Given the description of an element on the screen output the (x, y) to click on. 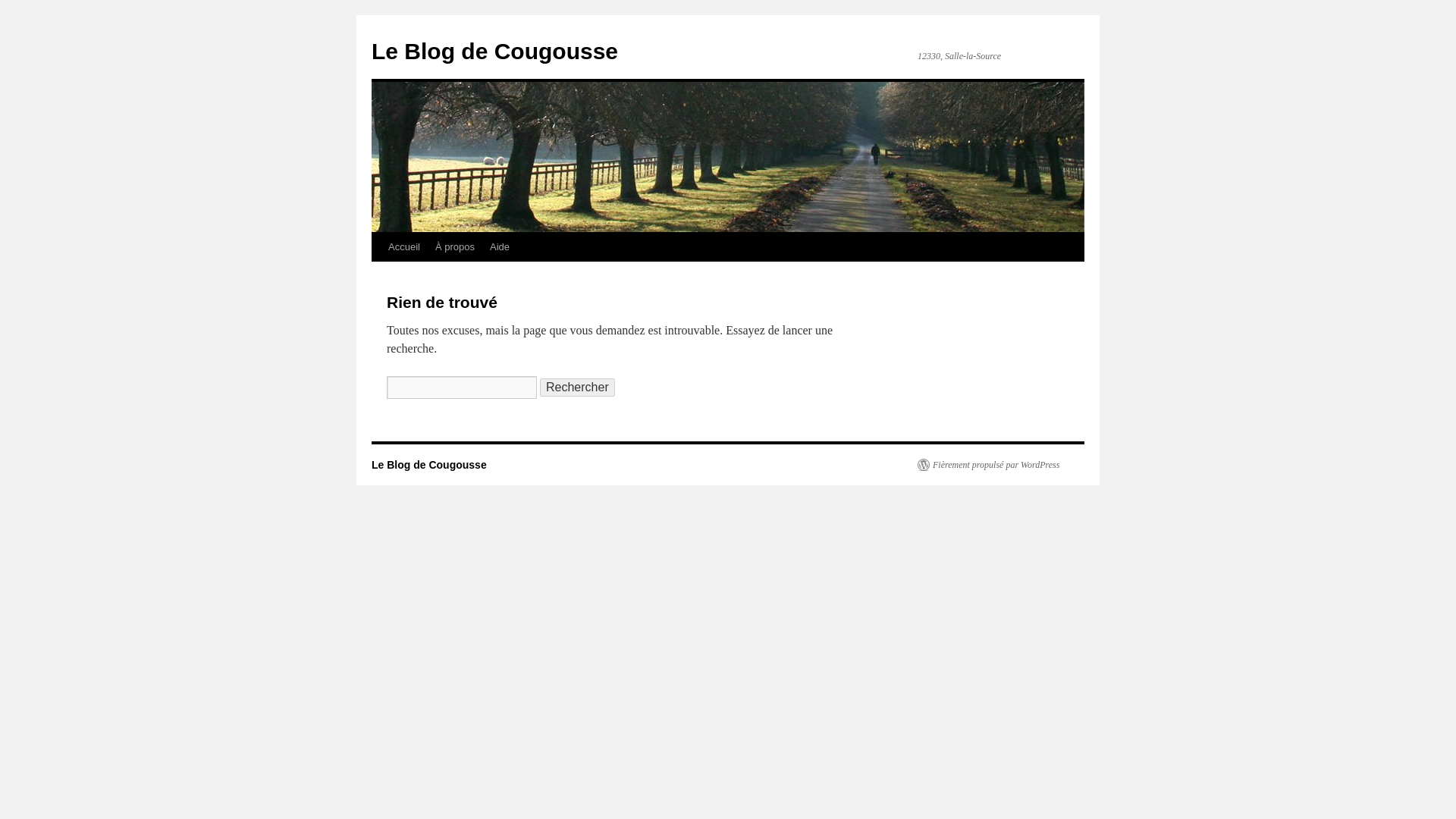
Le Blog de Cougousse (494, 50)
Accueil (404, 246)
Le Blog de Cougousse (494, 50)
Aide (498, 246)
Rechercher (577, 387)
Rechercher (577, 387)
